Given the description of an element on the screen output the (x, y) to click on. 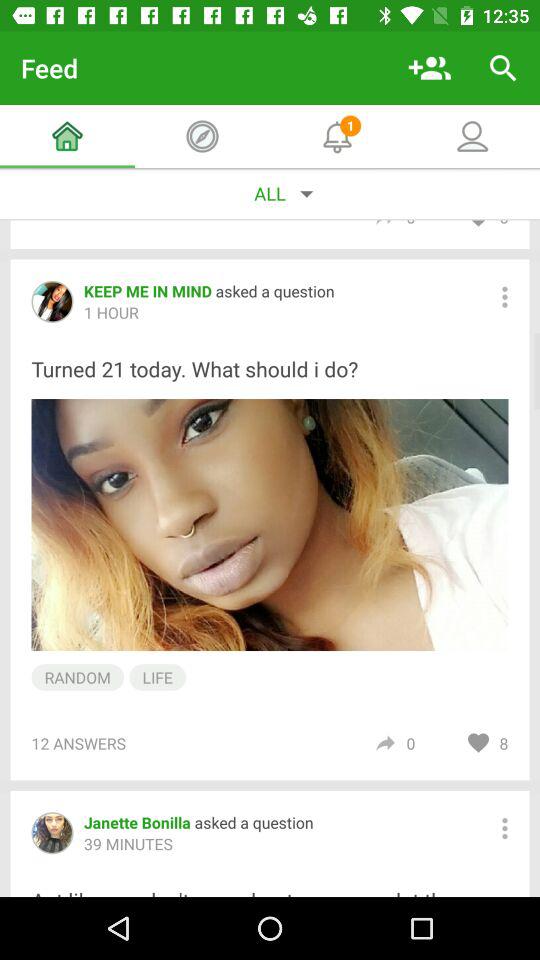
click for options/details (504, 828)
